Given the description of an element on the screen output the (x, y) to click on. 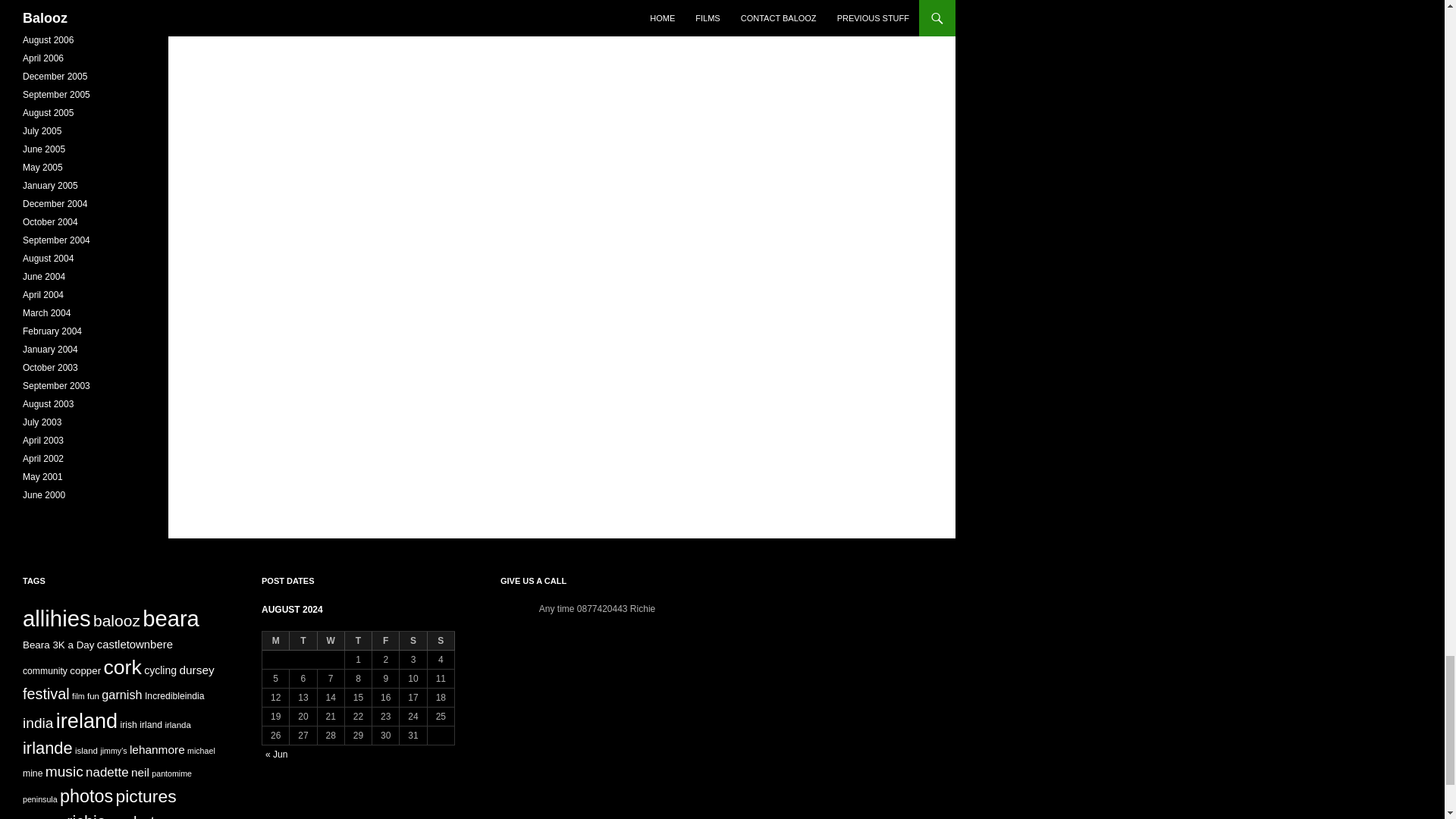
Friday (385, 640)
Sunday (441, 640)
Thursday (358, 640)
Tuesday (303, 640)
Wednesday (331, 640)
Monday (275, 640)
Saturday (412, 640)
